Given the description of an element on the screen output the (x, y) to click on. 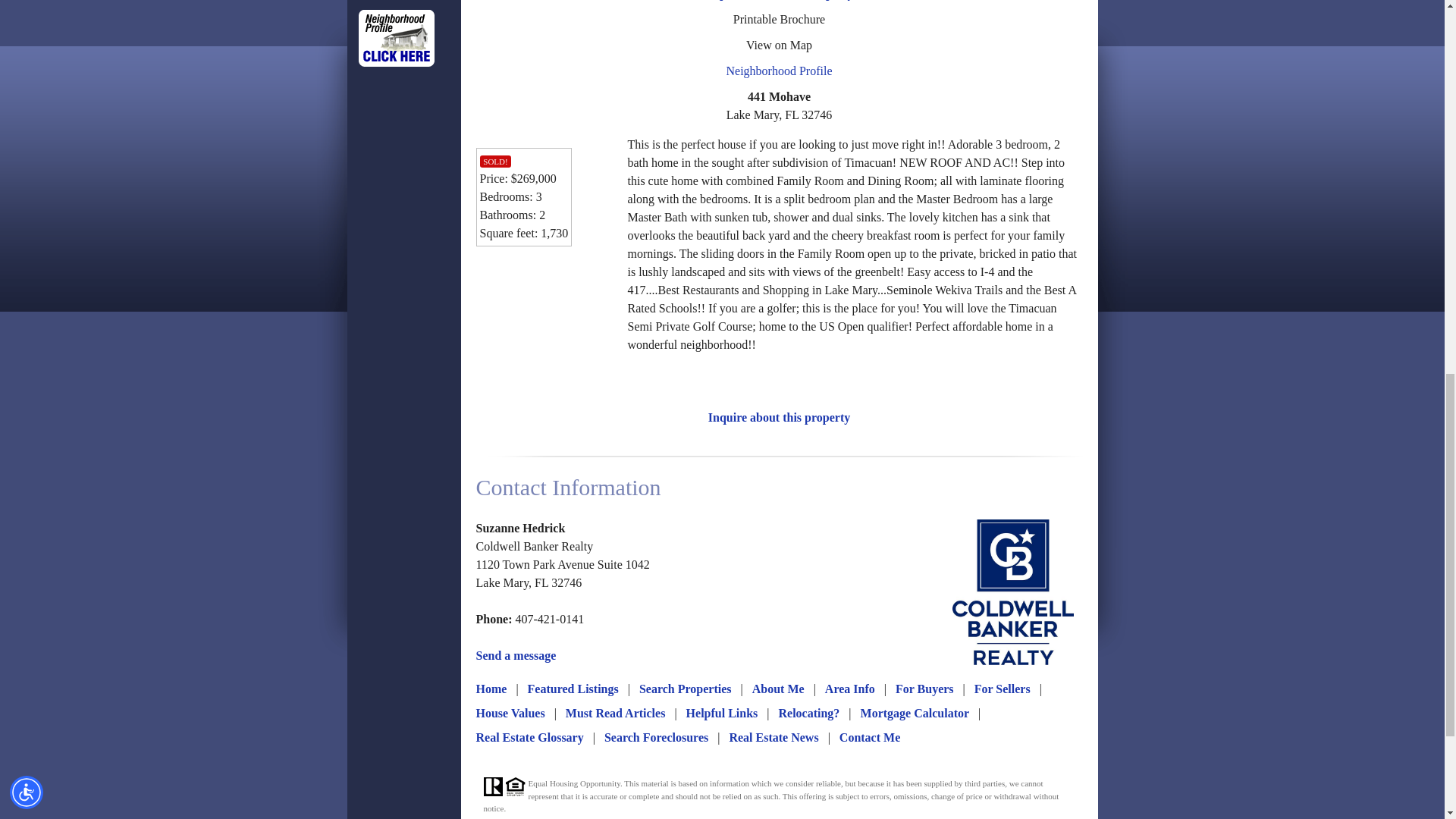
Inquire about this property (778, 417)
About Me (778, 688)
Neighborhood Profile (779, 70)
Featured Listings (572, 688)
Home (491, 688)
Printable Brochure (779, 19)
Send a message (516, 655)
View on Map (778, 44)
Facebook like button (528, 282)
Search Properties (685, 688)
